Given the description of an element on the screen output the (x, y) to click on. 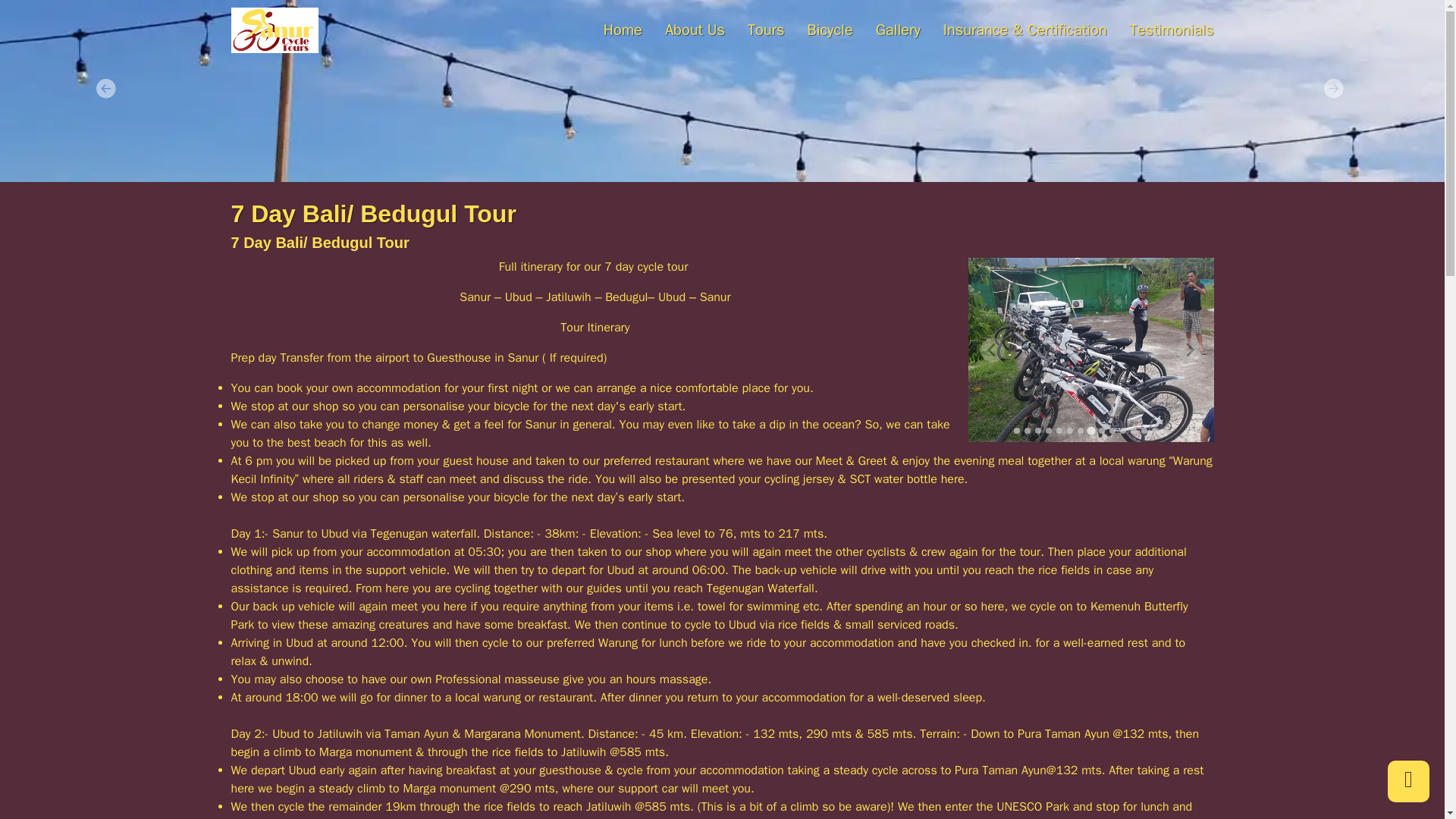
Testimonials (1159, 30)
Bicycle (817, 30)
Previous (108, 90)
Gallery (886, 30)
Tours (754, 30)
About Us (683, 30)
Home (611, 30)
